Given the description of an element on the screen output the (x, y) to click on. 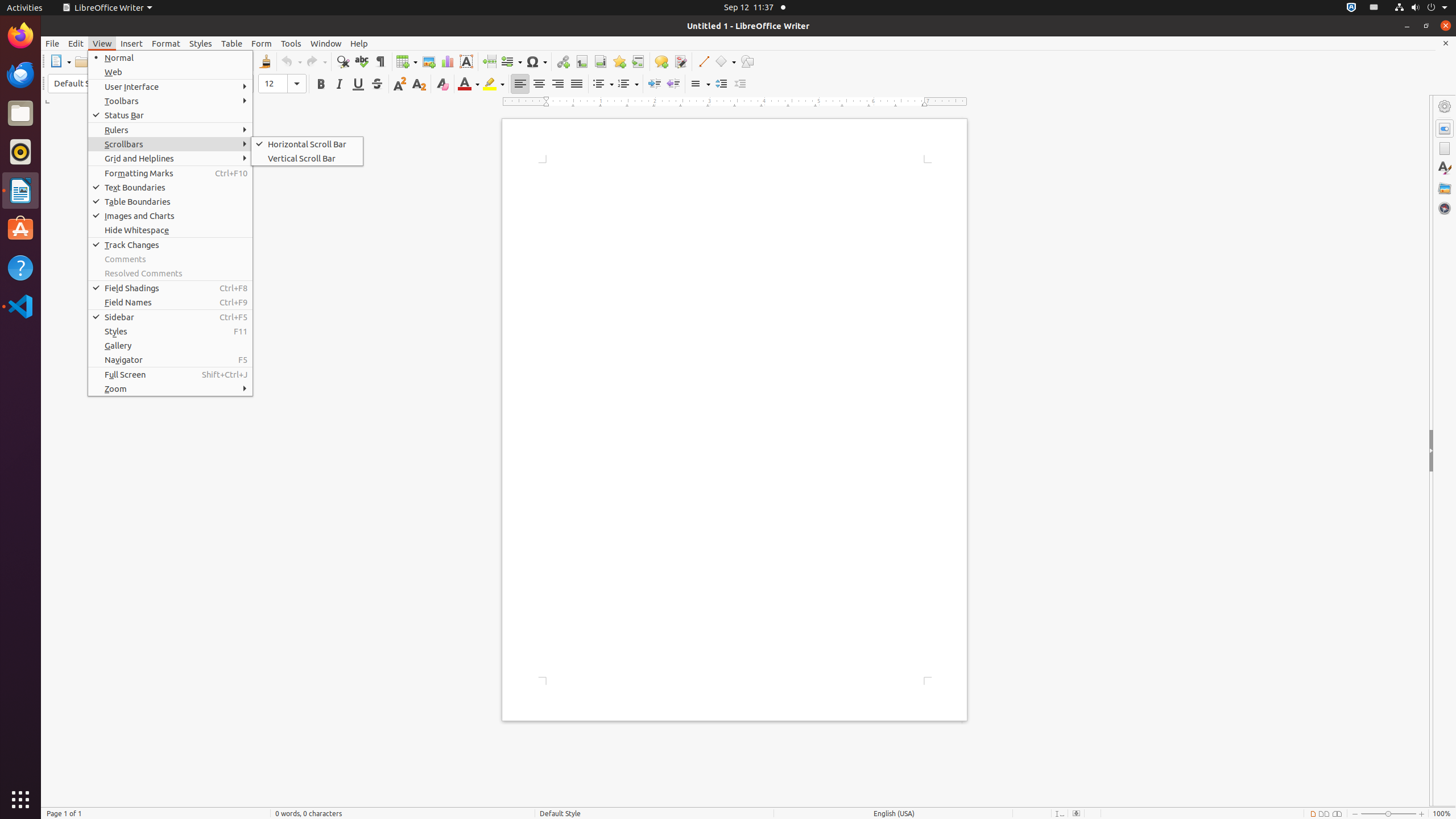
Visual Studio Code Element type: push-button (20, 306)
Web Element type: radio-menu-item (170, 71)
Spelling Element type: push-button (361, 61)
Subscript Element type: toggle-button (418, 83)
Strikethrough Element type: toggle-button (376, 83)
